Given the description of an element on the screen output the (x, y) to click on. 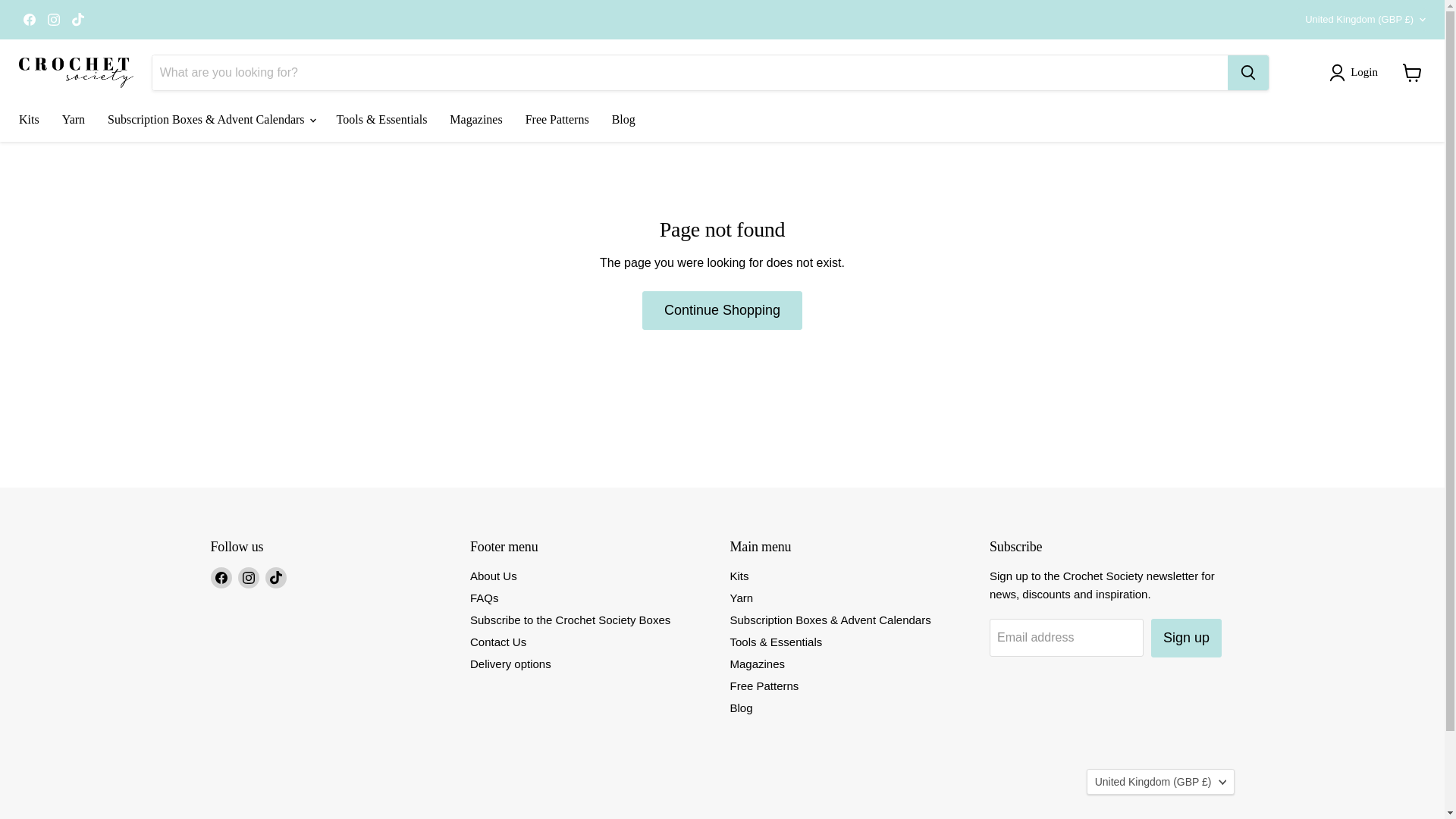
Find us on Instagram (53, 19)
Instagram (53, 19)
TikTok (77, 19)
Find us on TikTok (77, 19)
Instagram (248, 577)
Find us on Facebook (29, 19)
Facebook (29, 19)
Facebook (221, 577)
TikTok (275, 577)
